Given the description of an element on the screen output the (x, y) to click on. 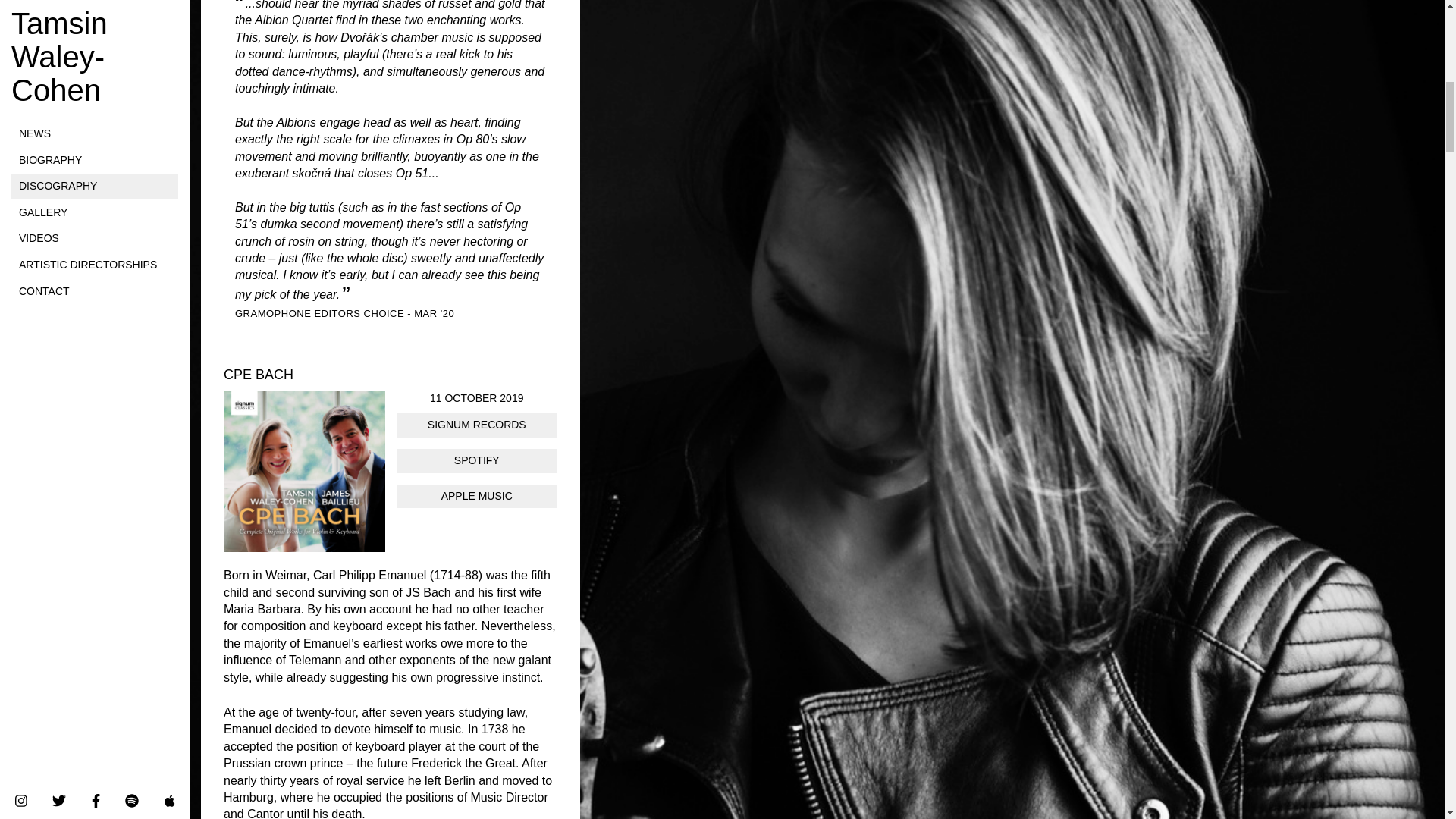
APPLE MUSIC (476, 496)
SIGNUM RECORDS (476, 425)
SPOTIFY (476, 460)
